Given the description of an element on the screen output the (x, y) to click on. 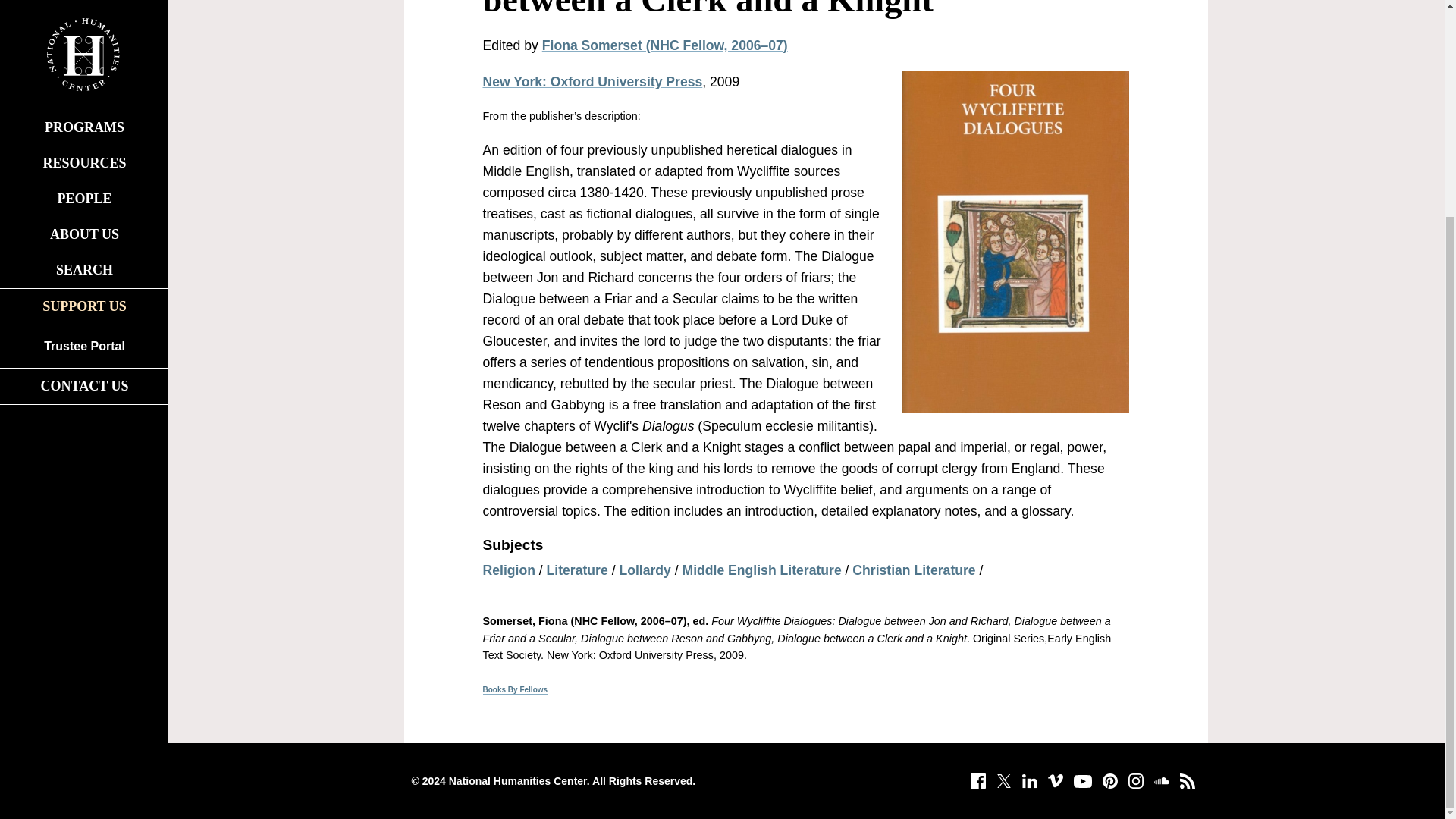
SUPPORT US (83, 22)
X (1003, 781)
Vimeo (1054, 781)
Facebook (976, 780)
LinkedIn (1029, 781)
YouTube (1081, 781)
Subscribe via RSS (1186, 780)
Soundcloud (1160, 780)
Instagram (1135, 780)
Pinterest (1109, 780)
SEARCH (83, 2)
